Given the description of an element on the screen output the (x, y) to click on. 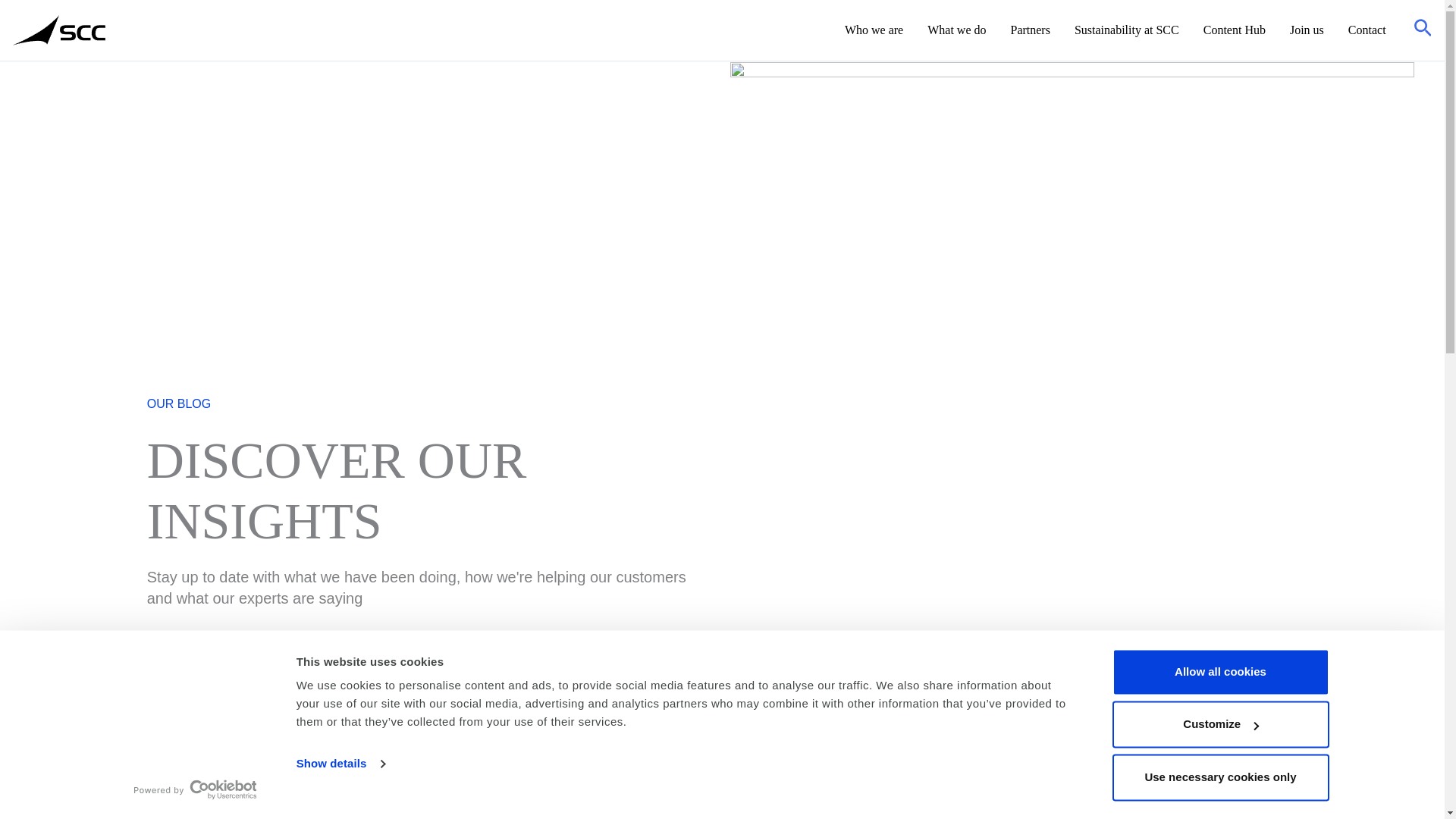
Show details (340, 763)
